Given the description of an element on the screen output the (x, y) to click on. 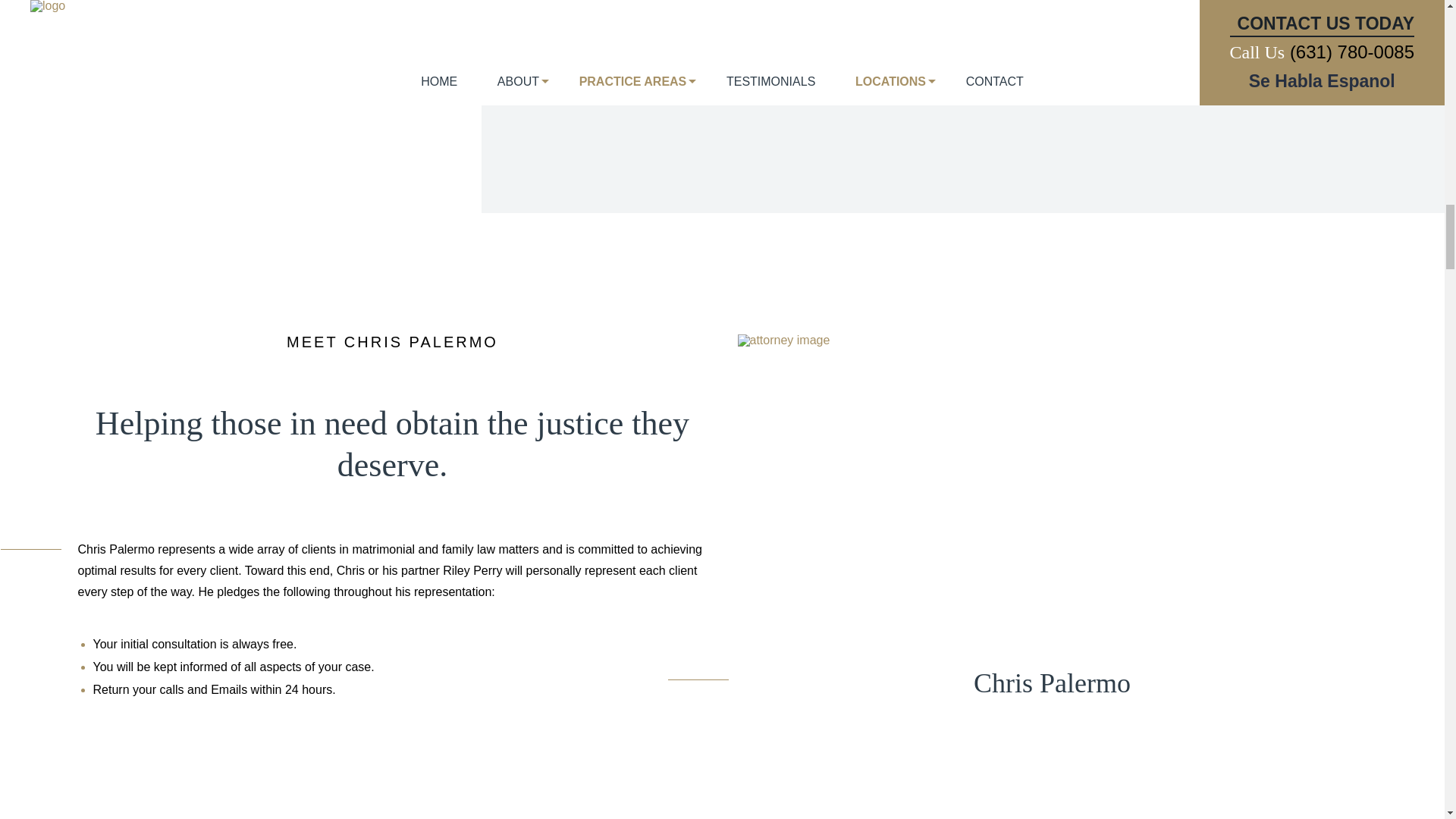
Chris Palermo (782, 339)
UNCONTESTED DIVORCE (702, 43)
